Given the description of an element on the screen output the (x, y) to click on. 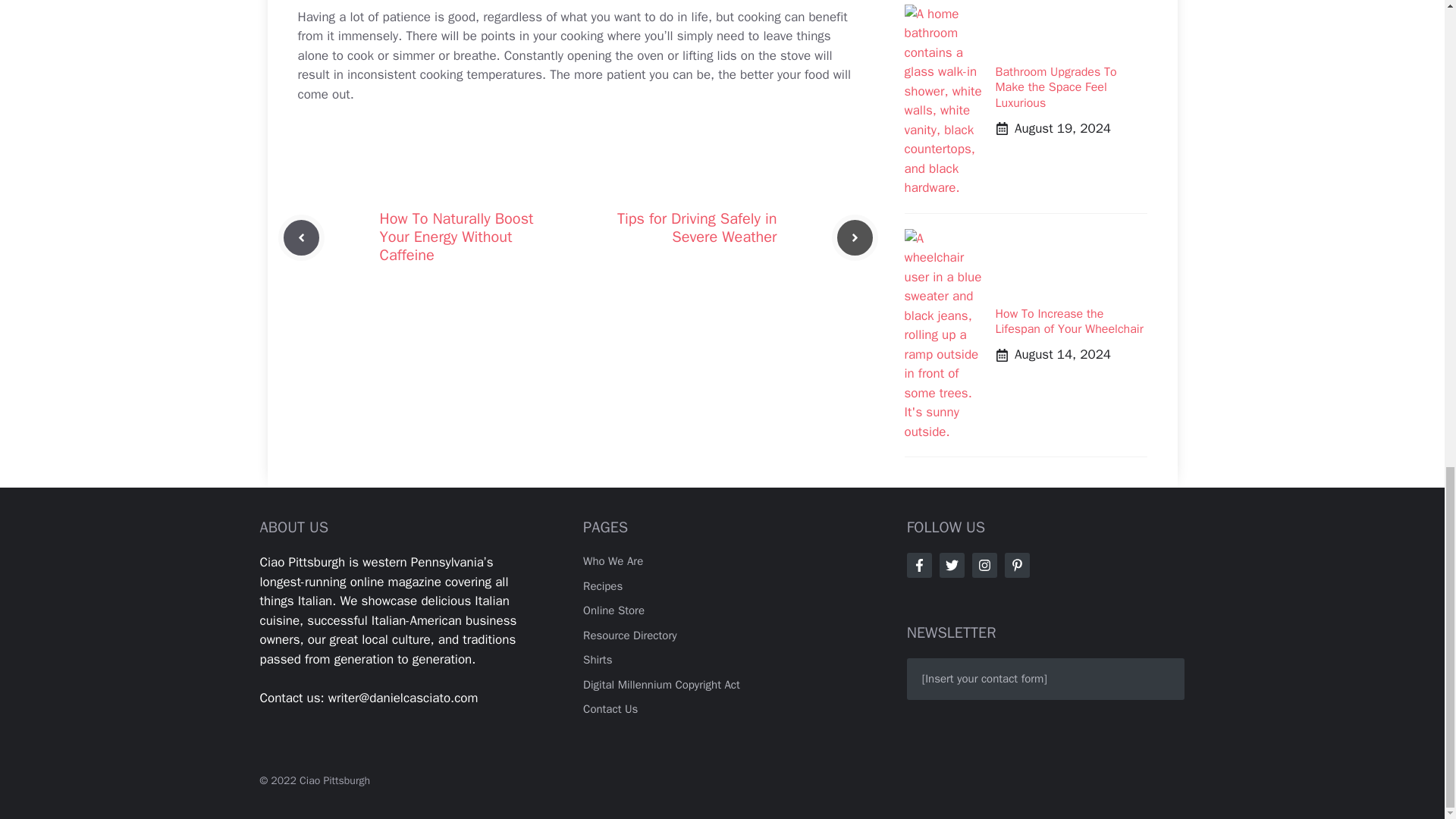
Tips for Driving Safely in Severe Weather (697, 227)
Digital Millennium Copyright Act (661, 684)
Bathroom Upgrades To Make the Space Feel Luxurious (1055, 87)
Shirts (597, 659)
Scroll back to top (1406, 441)
Who We Are (613, 561)
How To Naturally Boost Your Energy Without Caffeine (455, 236)
Contact Us (610, 708)
Recipes (603, 585)
Resource Directory (630, 635)
